Given the description of an element on the screen output the (x, y) to click on. 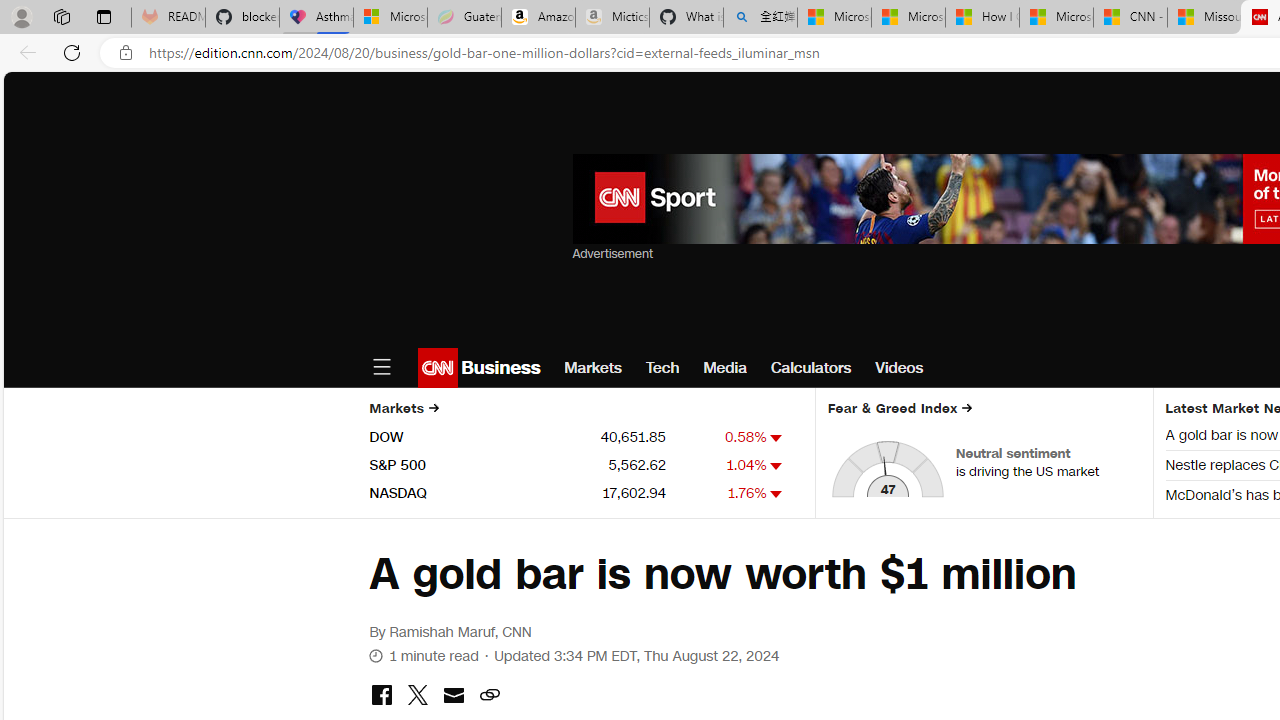
Class: icon-social-twitter (417, 695)
Business (498, 367)
Class: market-fng-gauge__hand-svg (885, 475)
CNN logo (437, 367)
Tech (662, 367)
Class: icon-social-facebook (381, 695)
